Given the description of an element on the screen output the (x, y) to click on. 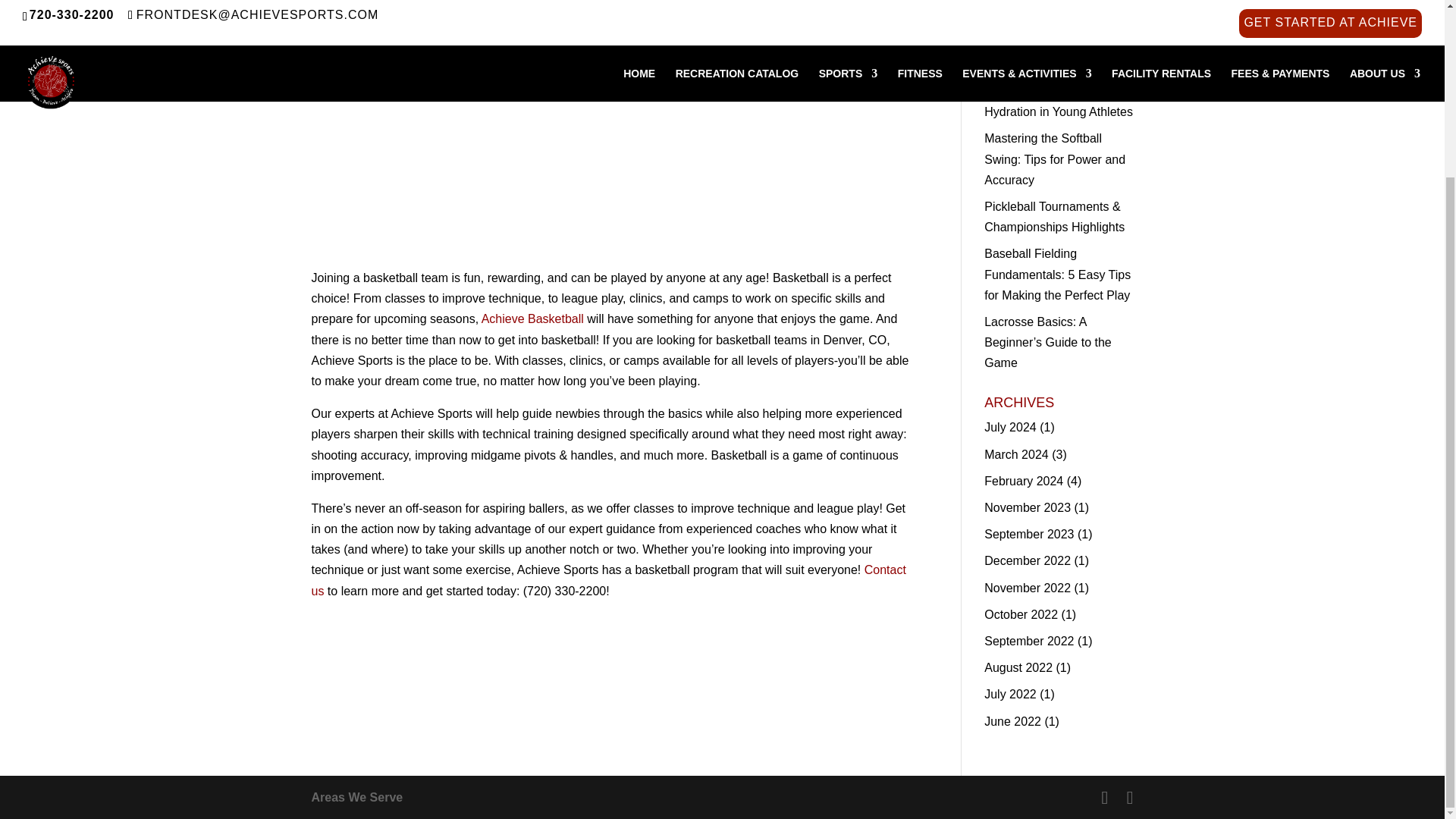
Search (1108, 21)
